Given the description of an element on the screen output the (x, y) to click on. 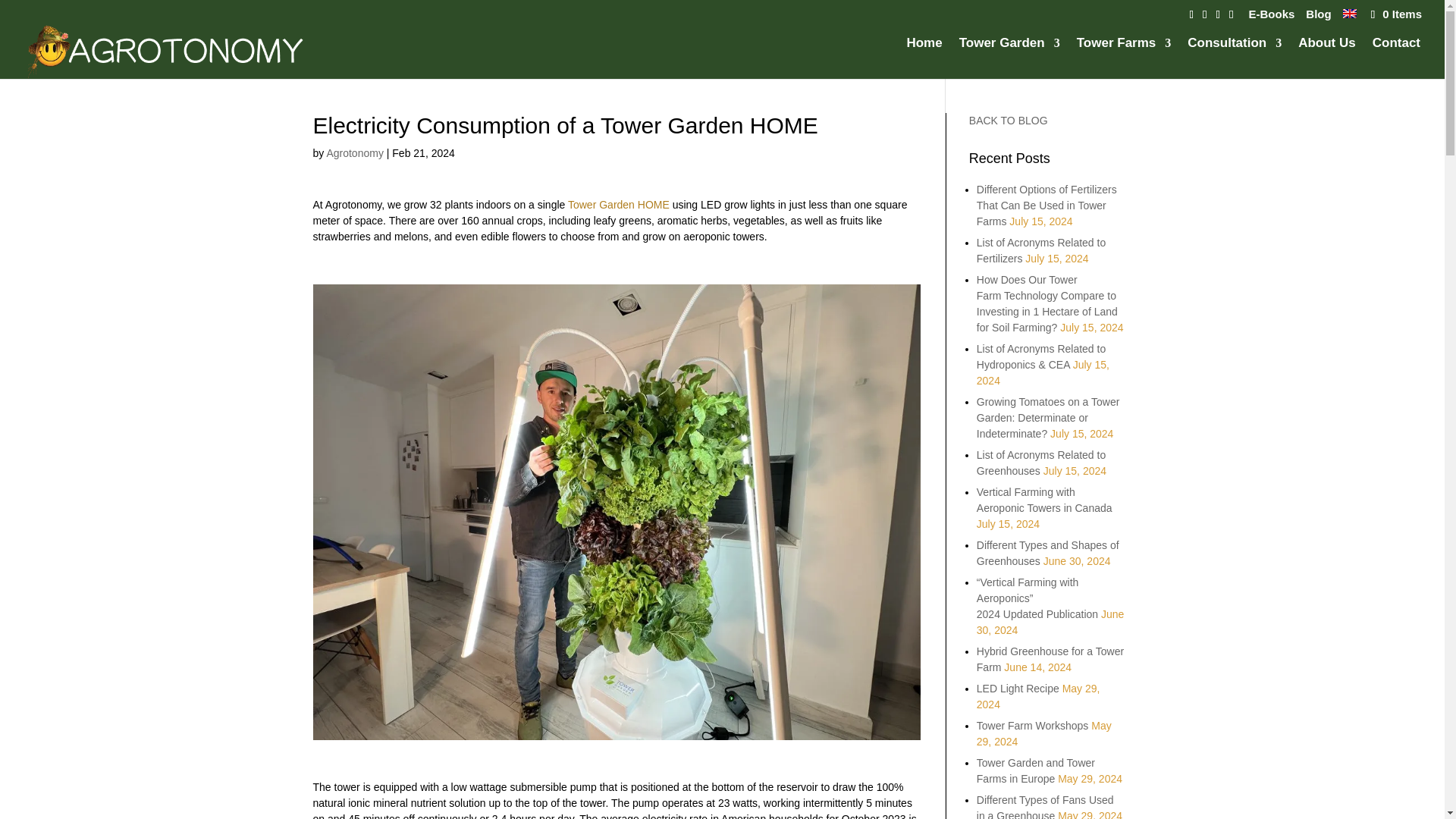
Contact (1397, 57)
Tower Farms (1124, 57)
About Us (1326, 57)
Blog (1318, 17)
Tower Garden (1009, 57)
Posts by Agrotonomy (354, 152)
Consultation (1234, 57)
0 Items (1395, 13)
E-Books (1270, 17)
